Given the description of an element on the screen output the (x, y) to click on. 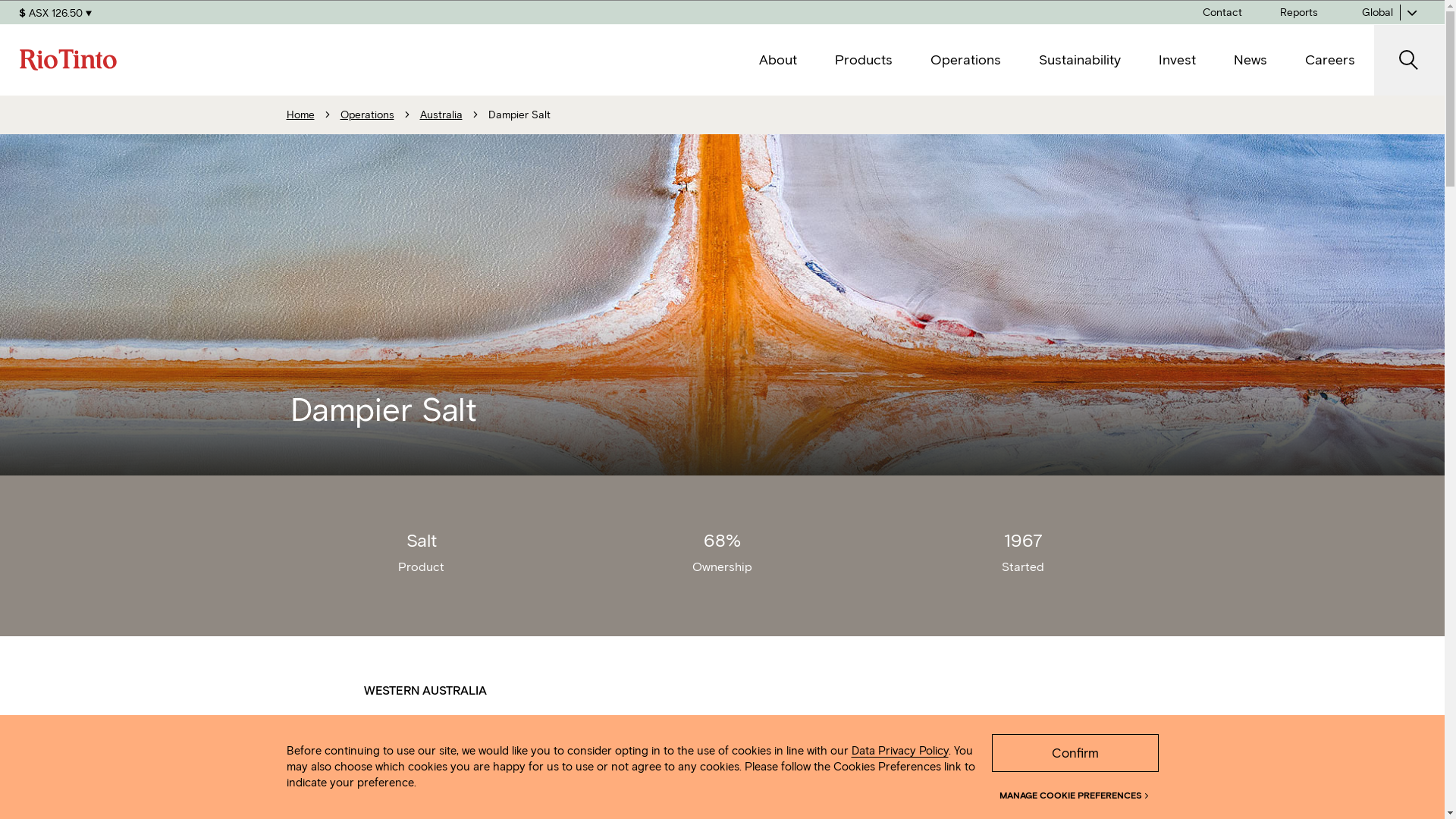
Contact Element type: text (1222, 12)
Sustainability Element type: text (1079, 60)
Data Privacy Policy Element type: text (898, 750)
Invest Element type: text (1176, 60)
Products Element type: text (863, 60)
salt Element type: text (866, 752)
Confirm Element type: text (1074, 752)
Operations Element type: text (965, 60)
Reports Element type: text (1298, 12)
Global  Element type: text (1390, 12)
Home Element type: text (300, 114)
News Element type: text (1250, 60)
Australia Element type: text (441, 114)
About Element type: text (777, 60)
Operations Element type: text (366, 114)
MANAGE COOKIE PREFERENCES Element type: text (1074, 785)
Careers Element type: text (1330, 60)
